Given the description of an element on the screen output the (x, y) to click on. 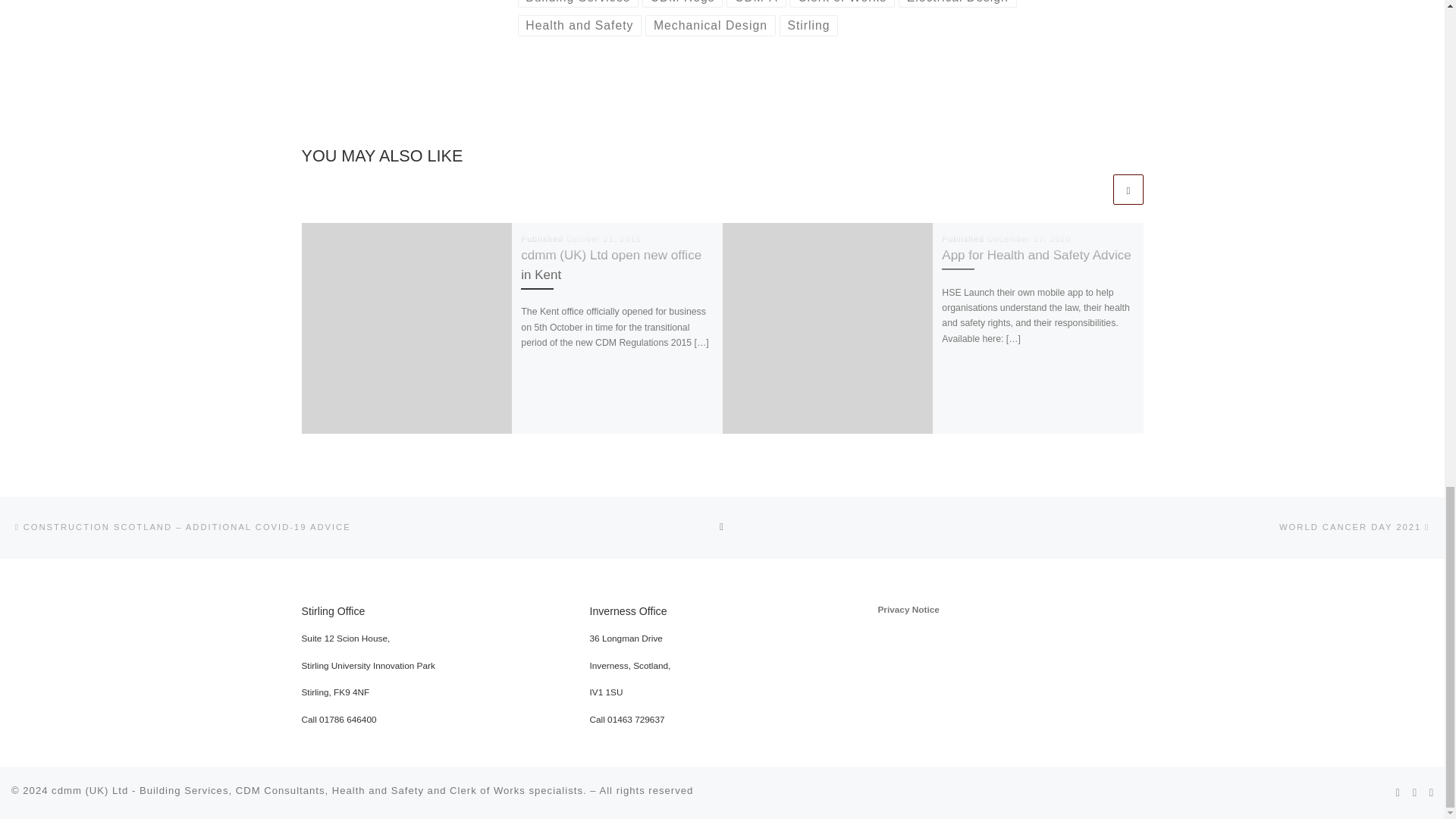
View all posts in Building Services (576, 4)
View all posts in Stirling (808, 25)
Next related articles (1127, 188)
View all posts in Electrical Design (957, 4)
View all posts in CDM Regs (682, 4)
View all posts in Health and Safety (579, 25)
Previous related articles (1094, 188)
View all posts in Clerk of Works (842, 4)
View all posts in CDM-A (756, 4)
